Given the description of an element on the screen output the (x, y) to click on. 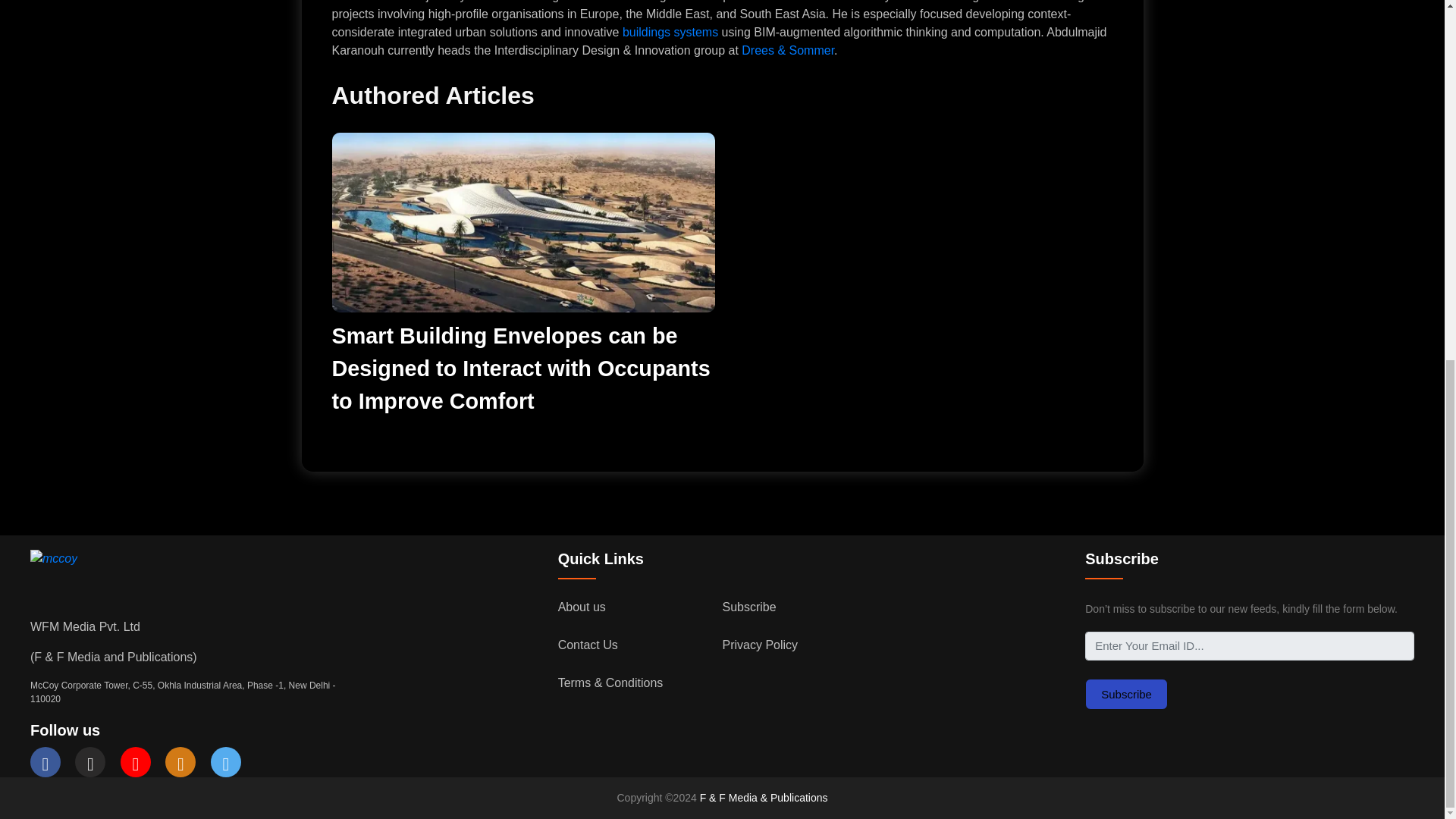
Subscribe (1125, 694)
buildings systems (670, 31)
